Given the description of an element on the screen output the (x, y) to click on. 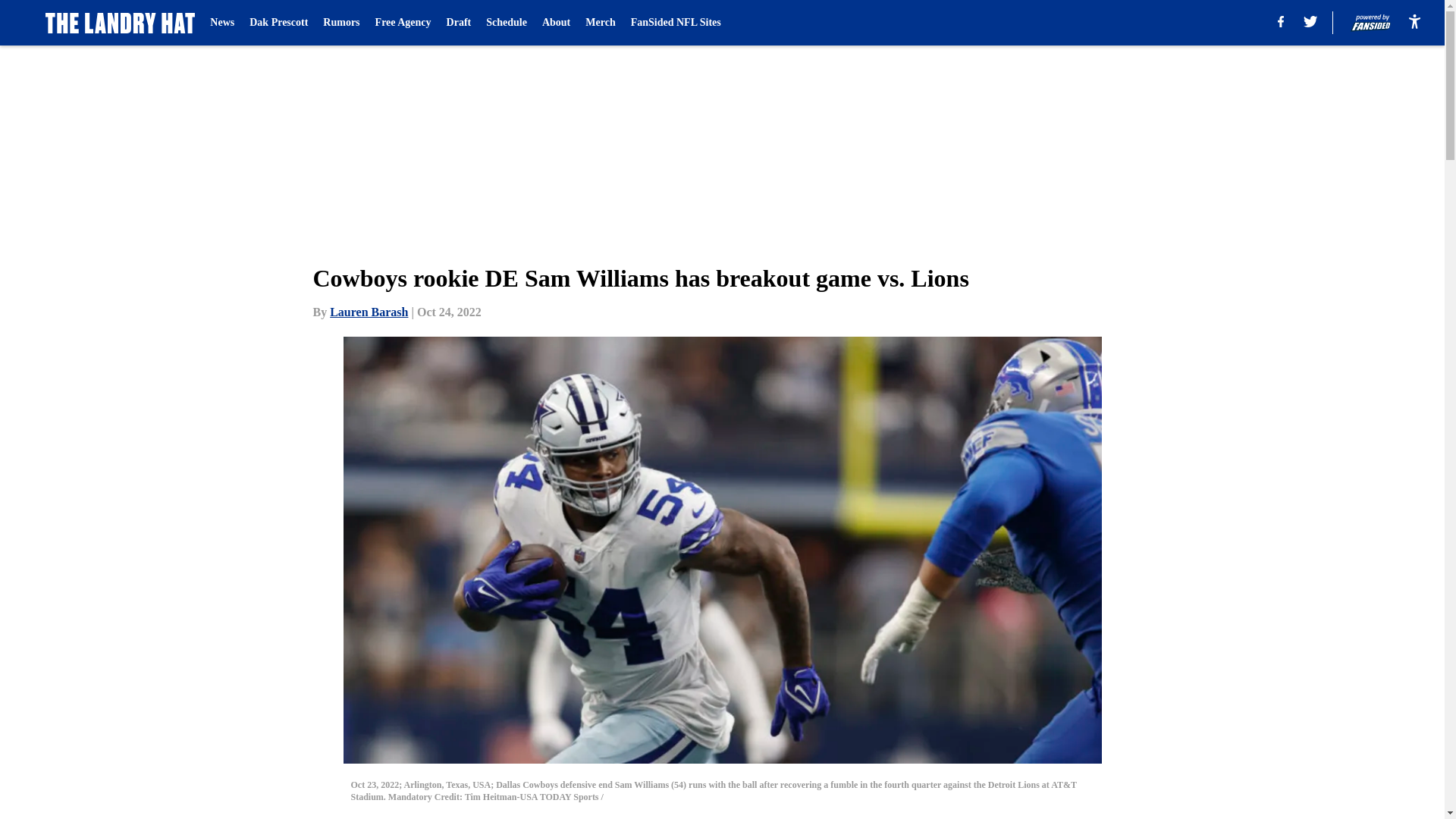
News (221, 22)
Dak Prescott (277, 22)
About (555, 22)
Rumors (341, 22)
Schedule (506, 22)
Free Agency (402, 22)
Merch (599, 22)
Lauren Barash (368, 311)
FanSided NFL Sites (675, 22)
Draft (458, 22)
